Given the description of an element on the screen output the (x, y) to click on. 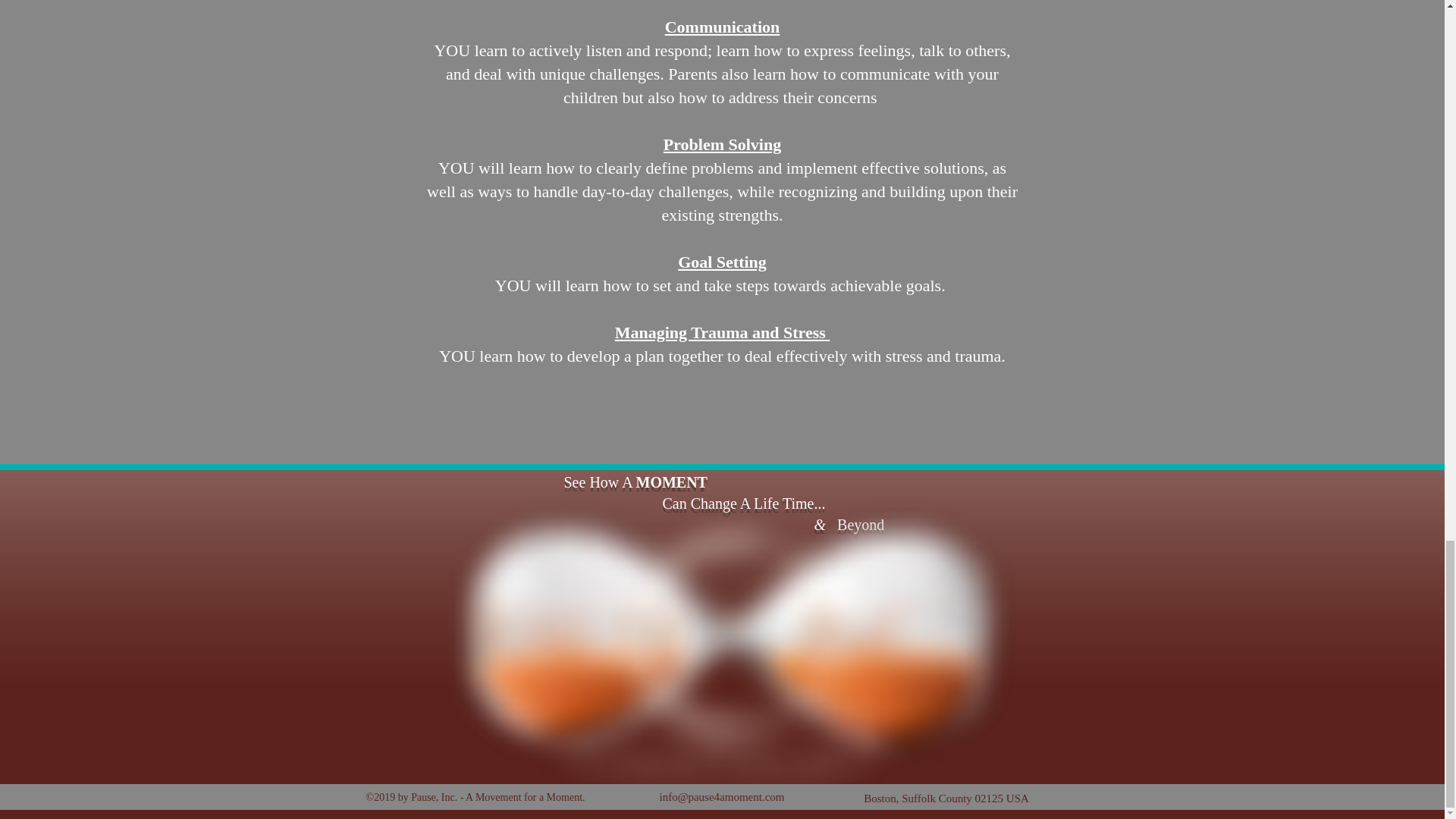
  See How A  (596, 482)
                            Can Change A Life Time... (690, 503)
MOMENT (670, 482)
